Given the description of an element on the screen output the (x, y) to click on. 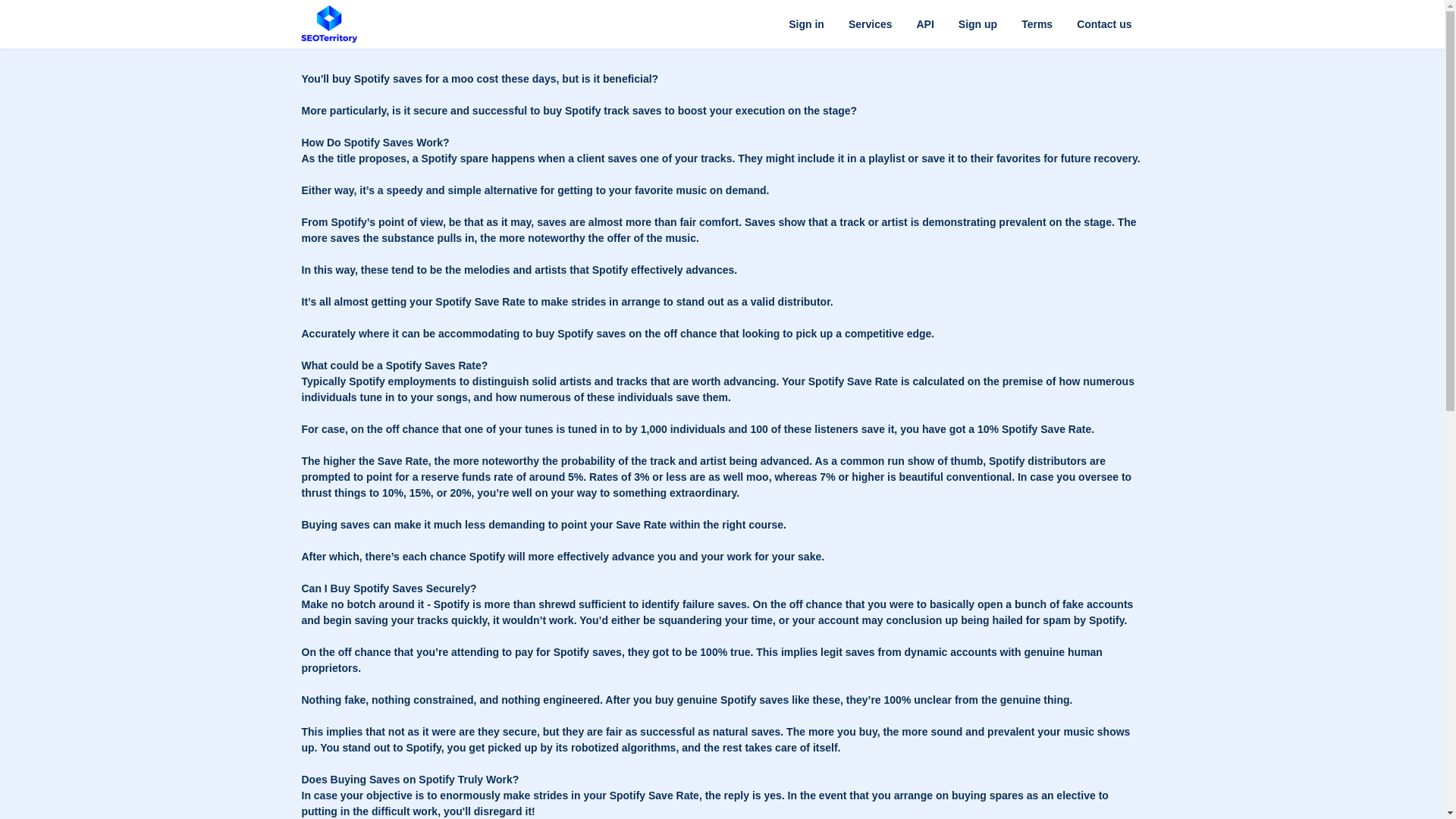
Contact us (1103, 24)
Sign up (977, 24)
Terms (1036, 24)
Services (869, 24)
Sign in (805, 24)
API (924, 24)
